Given the description of an element on the screen output the (x, y) to click on. 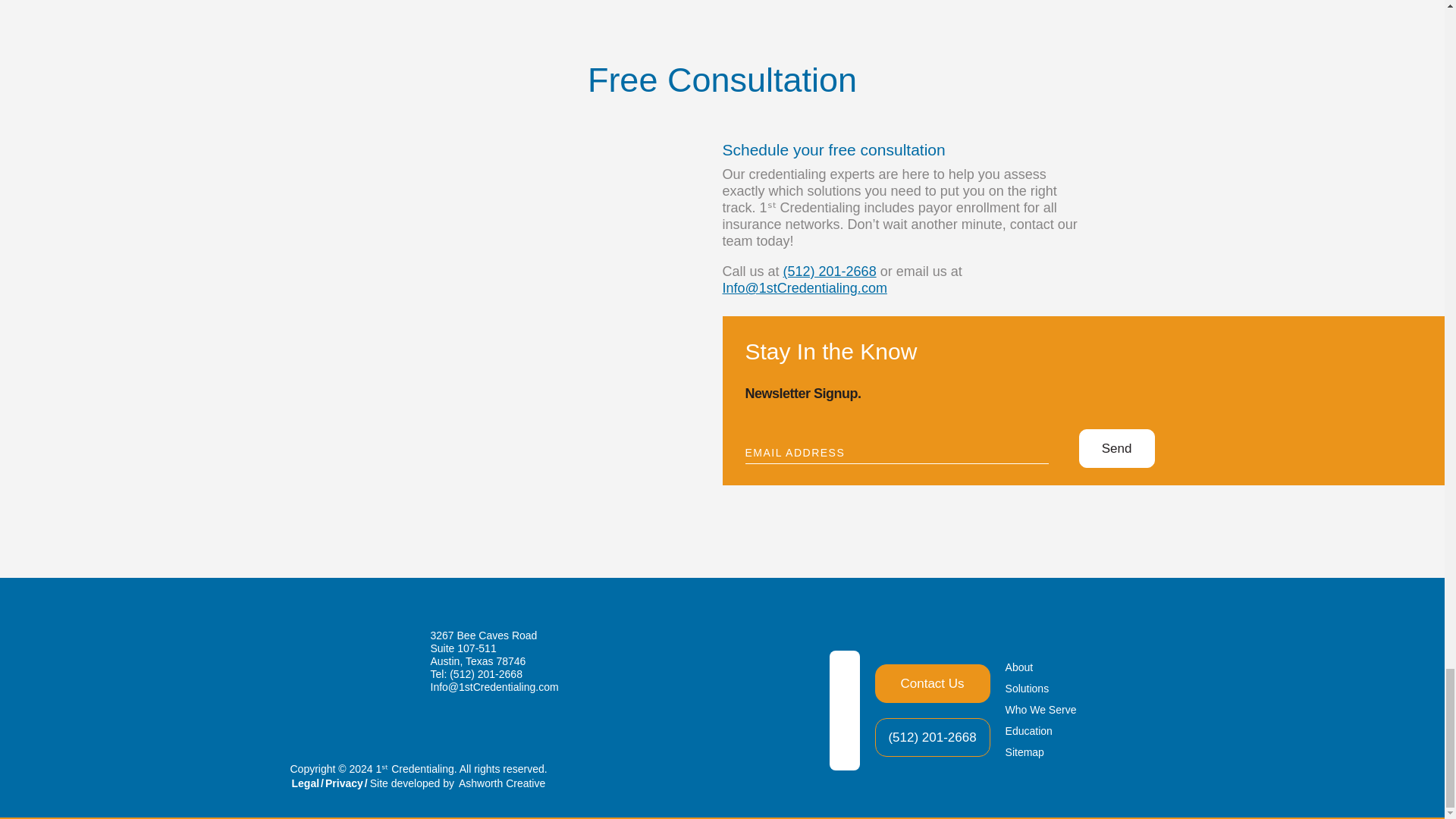
Send (1116, 448)
